Given the description of an element on the screen output the (x, y) to click on. 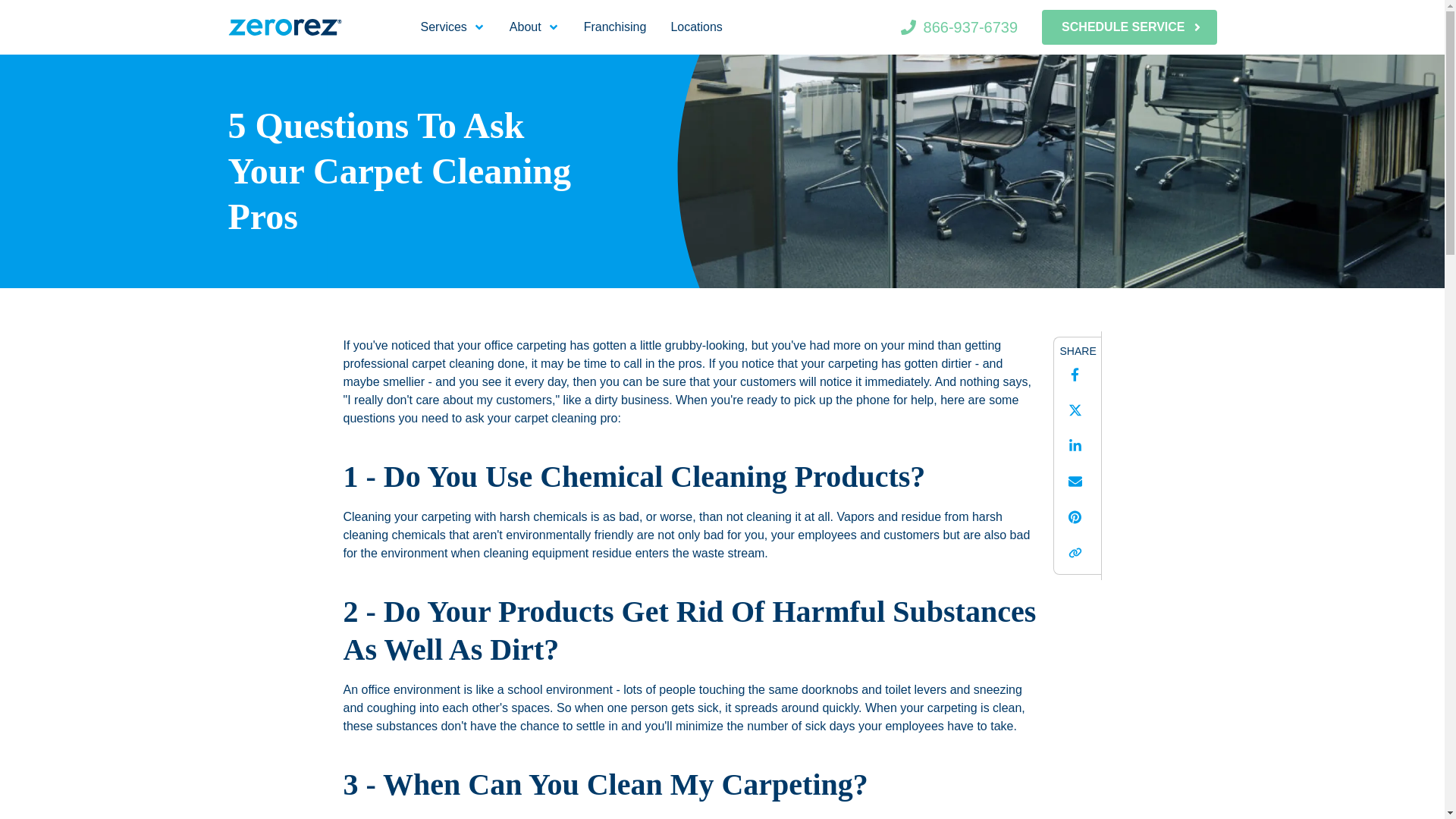
About (534, 26)
866-937-6739 (959, 26)
SCHEDULE SERVICE (1128, 27)
Services (451, 26)
Locations (696, 26)
Franchising (615, 26)
